Given the description of an element on the screen output the (x, y) to click on. 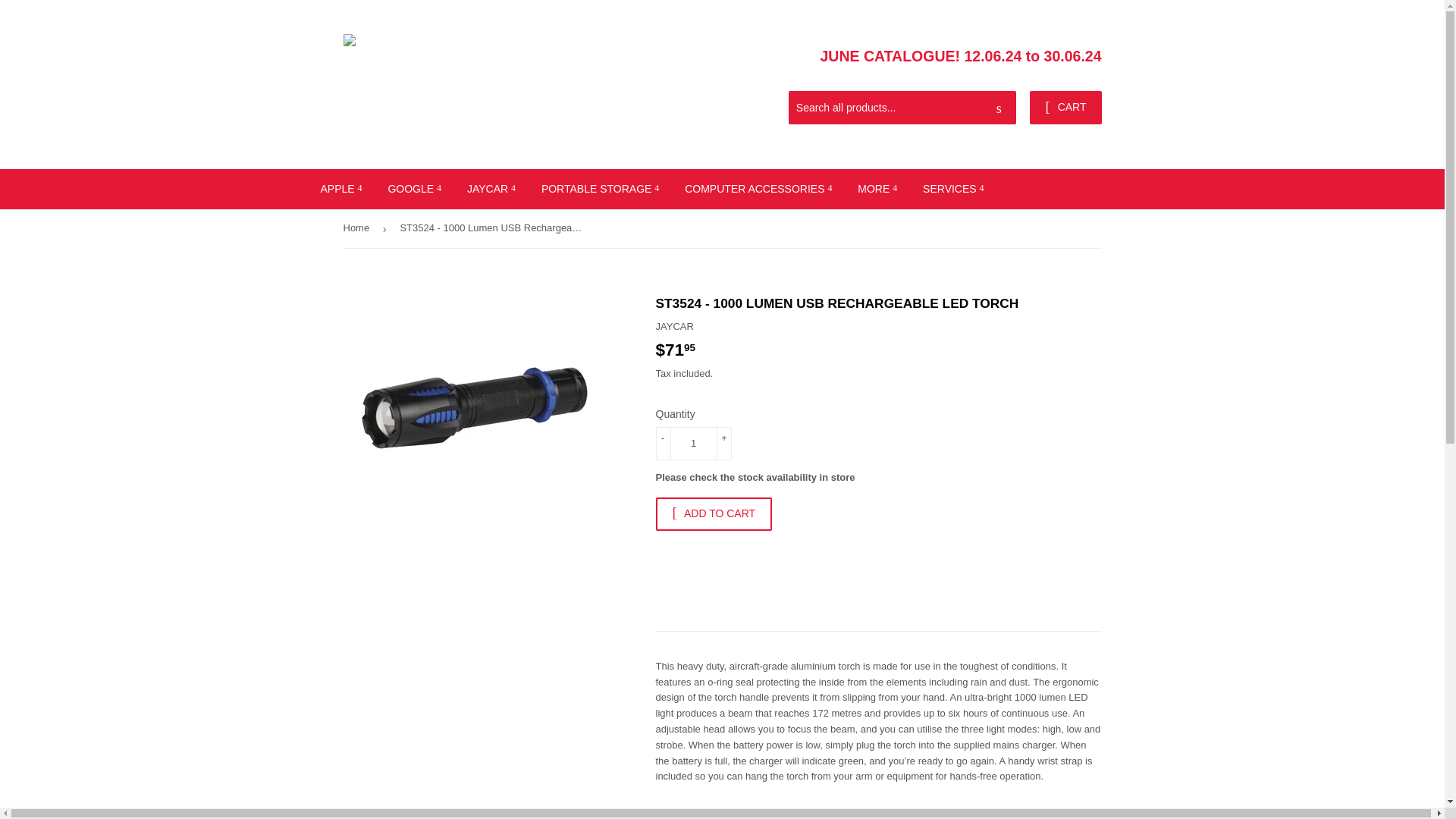
Search (998, 108)
CART (1064, 107)
JUNE CATALOGUE! 12.06.24 to 30.06.24 (961, 56)
Back to the frontpage (358, 228)
1 (692, 443)
Tweet on Twitter (742, 813)
Pin on Pinterest (802, 813)
Share on Facebook (679, 813)
